Given the description of an element on the screen output the (x, y) to click on. 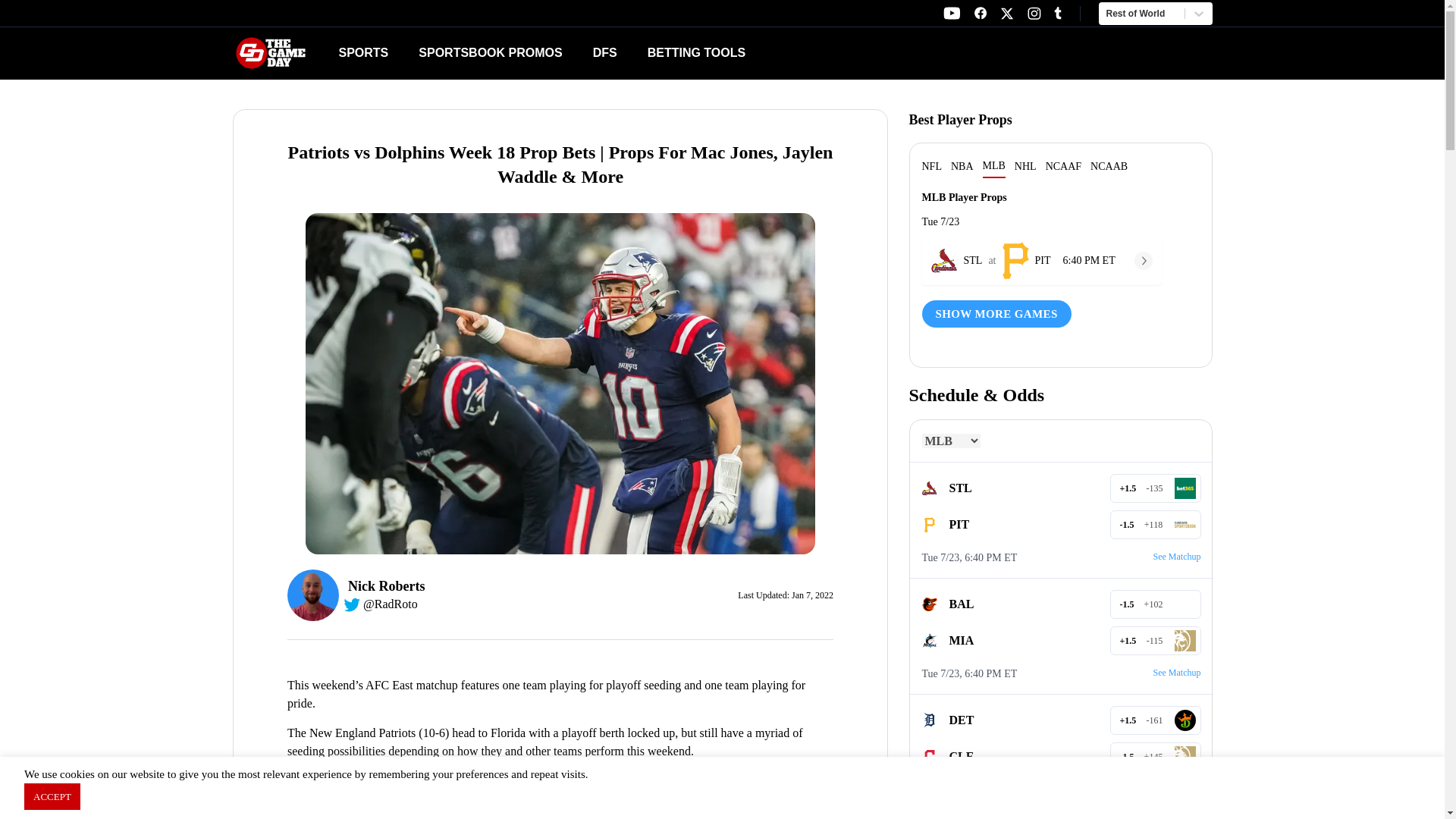
TGD Facebook Page (980, 12)
TGD X Profile (1006, 13)
SPORTS (758, 53)
TGD Youtube Channel (362, 51)
TGD Instagram Profile (951, 12)
